Given the description of an element on the screen output the (x, y) to click on. 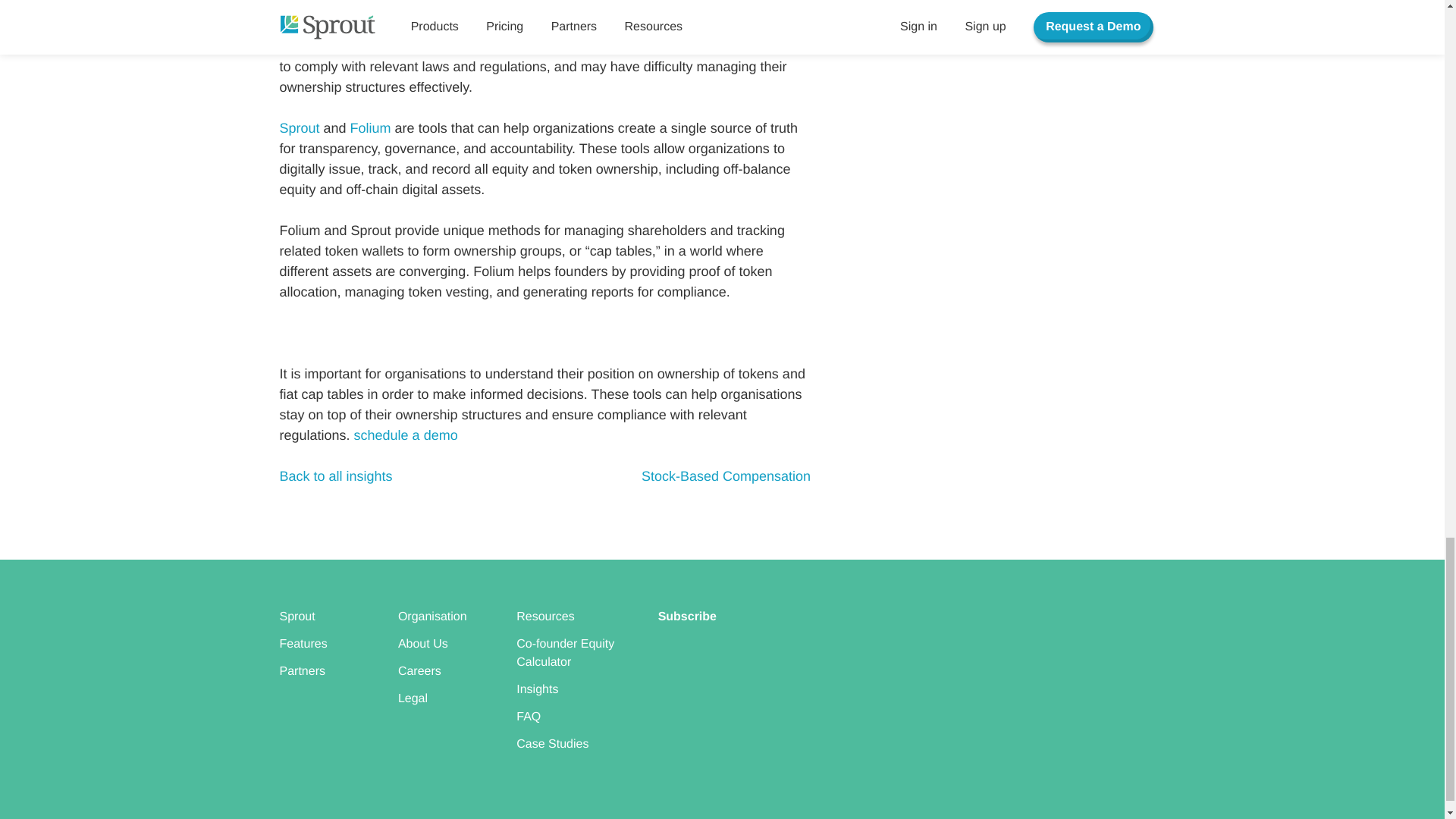
Careers (419, 671)
Sprout (296, 616)
Organisation (432, 616)
Legal (412, 698)
Folium (370, 127)
Resources (544, 616)
Back to all insights (335, 476)
schedule a demo (405, 435)
Features (302, 644)
Stock-Based Compensation (726, 476)
